Given the description of an element on the screen output the (x, y) to click on. 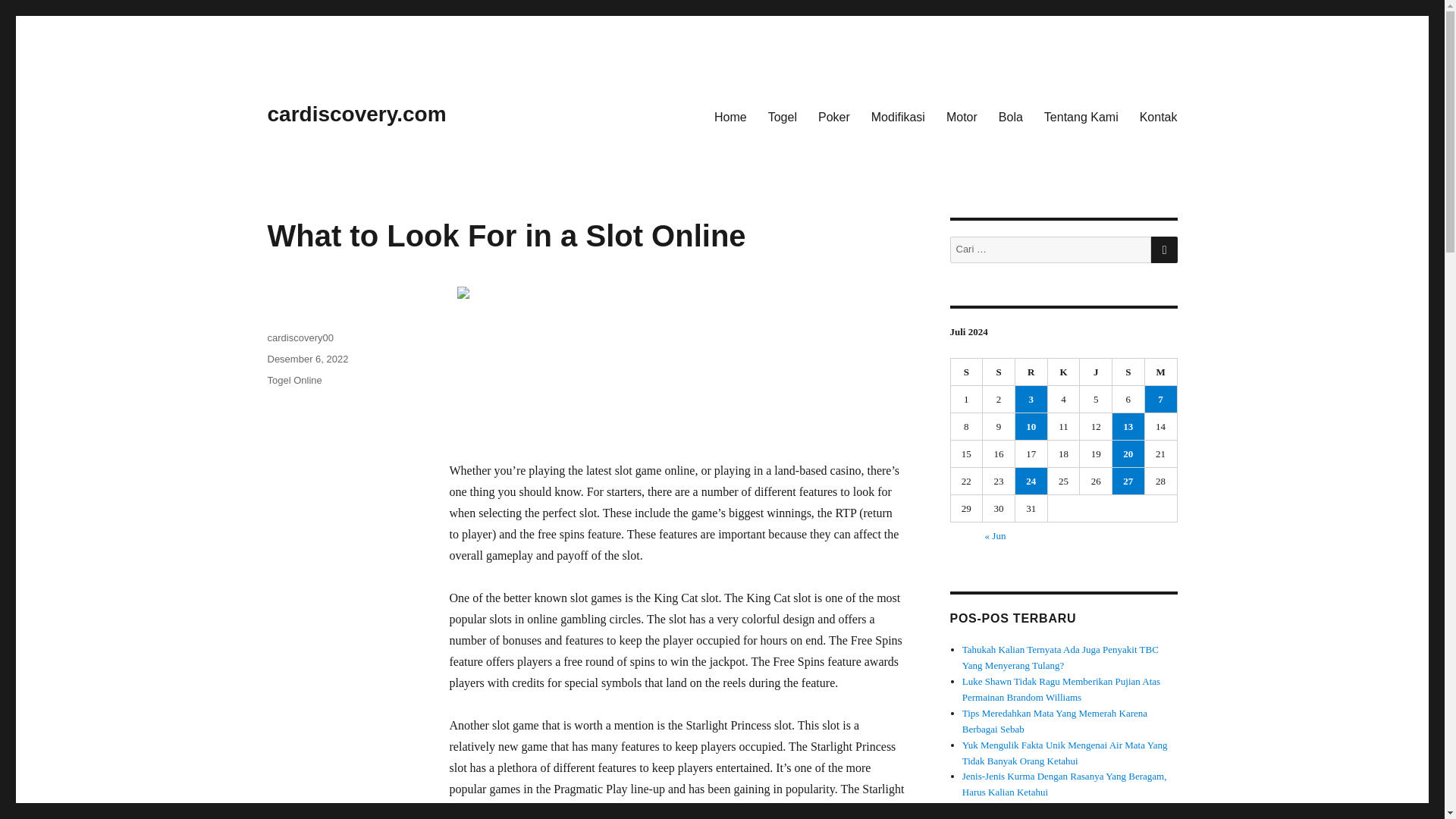
Rabu (1031, 371)
13 (1128, 426)
Minggu (1160, 371)
Togel (782, 116)
7 (1160, 398)
Selasa (998, 371)
Jumat (1096, 371)
Senin (967, 371)
Tentang Kami (1081, 116)
Sabtu (1128, 371)
Kontak (1158, 116)
Motor (962, 116)
3 (1030, 398)
